Given the description of an element on the screen output the (x, y) to click on. 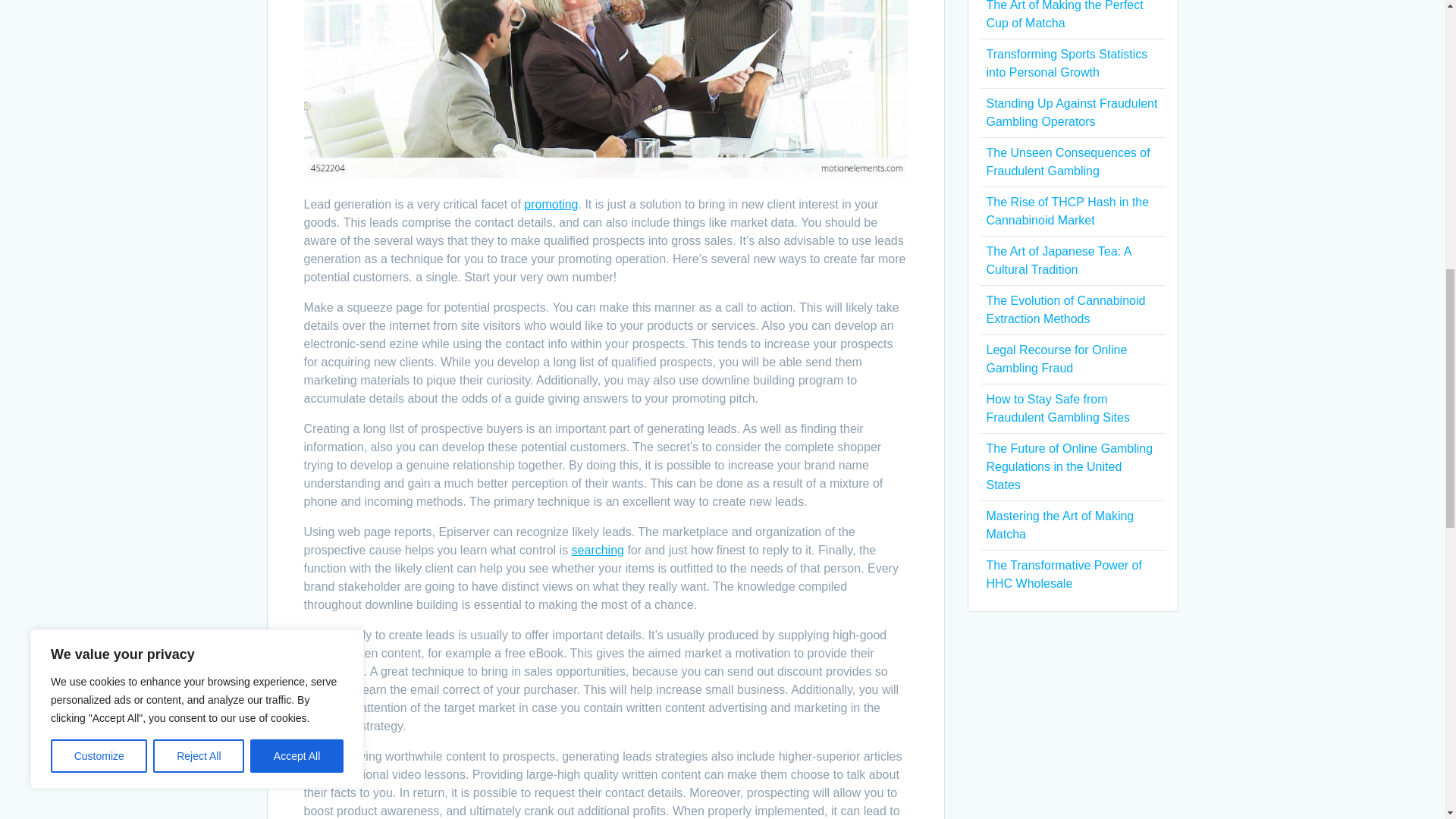
The Art of Making the Perfect Cup of Matcha (1063, 14)
Transforming Sports Statistics into Personal Growth (1066, 62)
The Unseen Consequences of Fraudulent Gambling (1067, 161)
promoting (551, 204)
Standing Up Against Fraudulent Gambling Operators (1071, 112)
searching (598, 549)
